Given the description of an element on the screen output the (x, y) to click on. 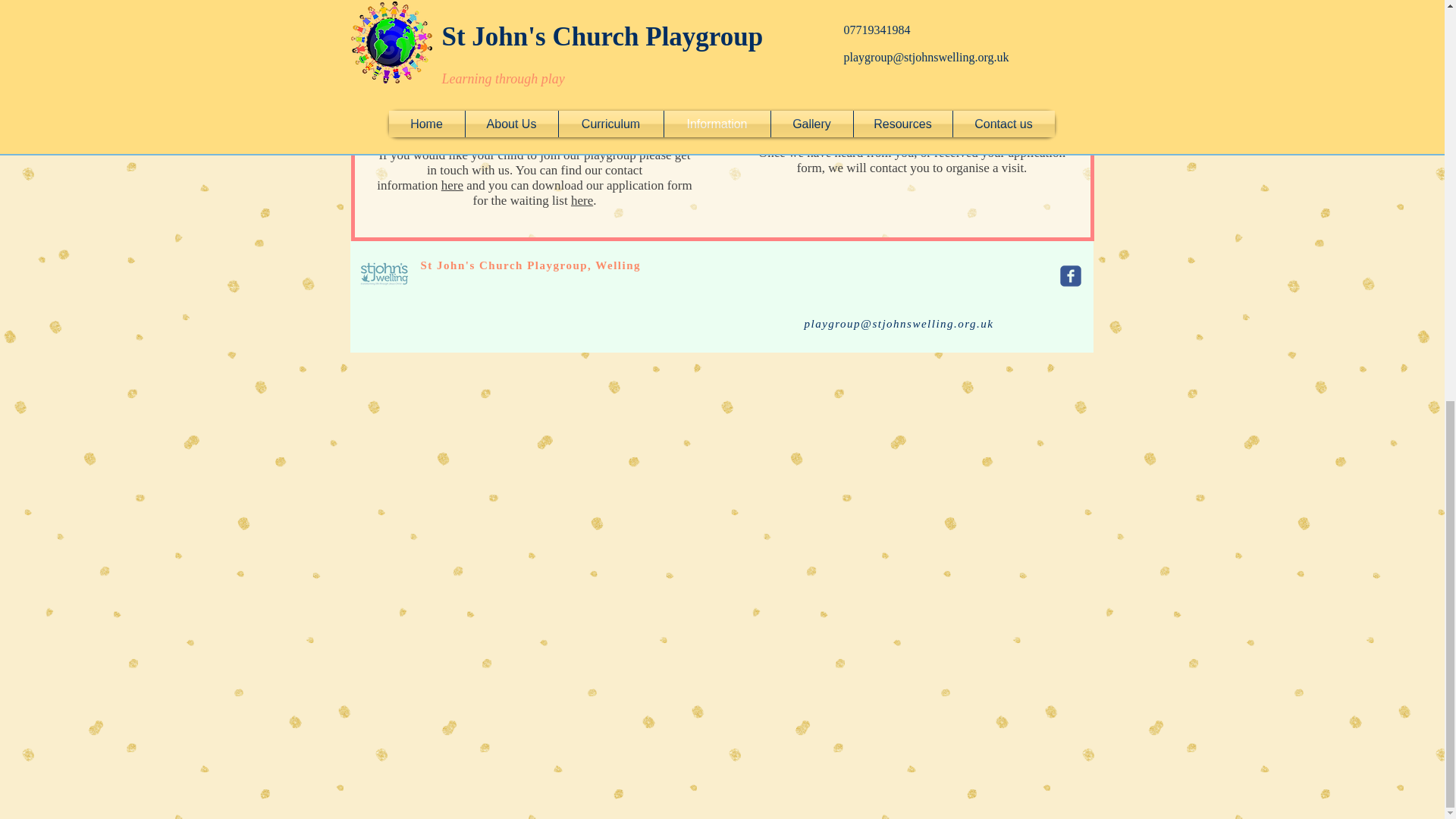
here (581, 200)
here (452, 185)
